Given the description of an element on the screen output the (x, y) to click on. 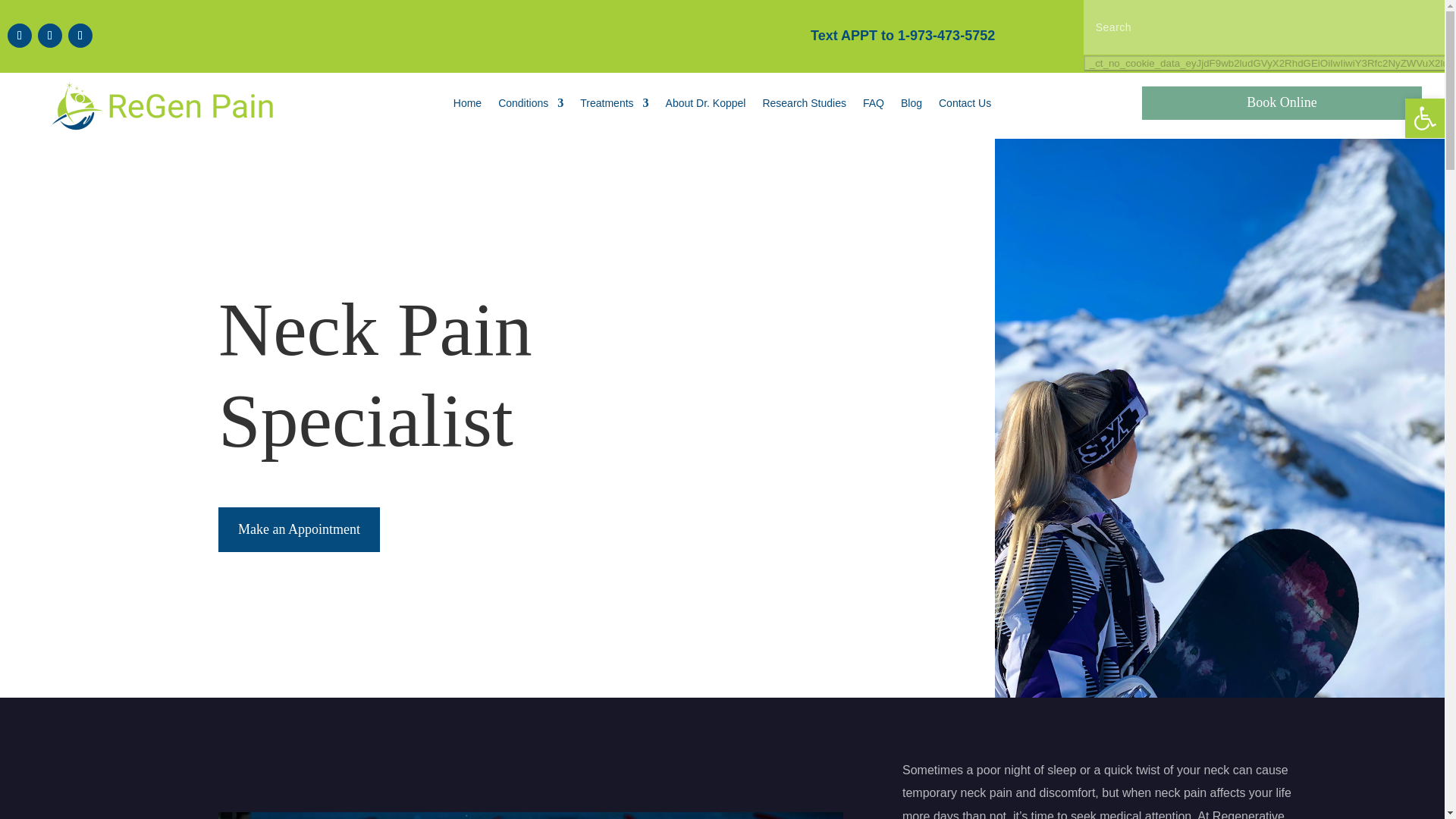
Accessibility Tools (1424, 118)
Follow on Facebook (19, 35)
Follow on Youtube (80, 35)
Treatments (613, 105)
Research Studies (803, 105)
Conditions (530, 105)
Home (466, 105)
About Dr. Koppel (705, 105)
Follow on X (49, 35)
